Given the description of an element on the screen output the (x, y) to click on. 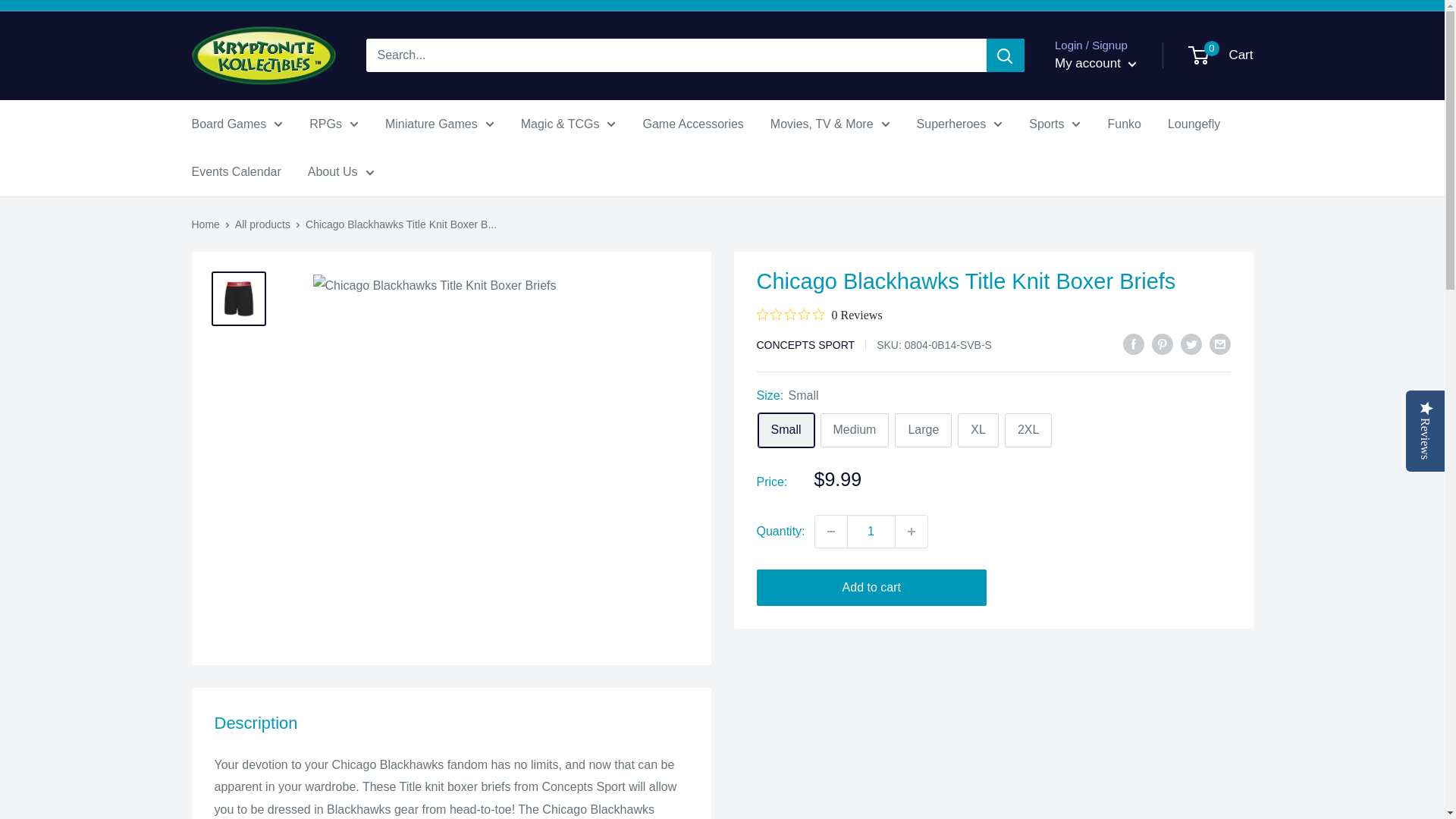
Decrease quantity by 1 (831, 531)
Small (785, 430)
Large (923, 430)
0 Reviews (819, 315)
1 (871, 531)
XL (978, 430)
2XL (1027, 430)
Medium (855, 430)
Increase quantity by 1 (911, 531)
